Given the description of an element on the screen output the (x, y) to click on. 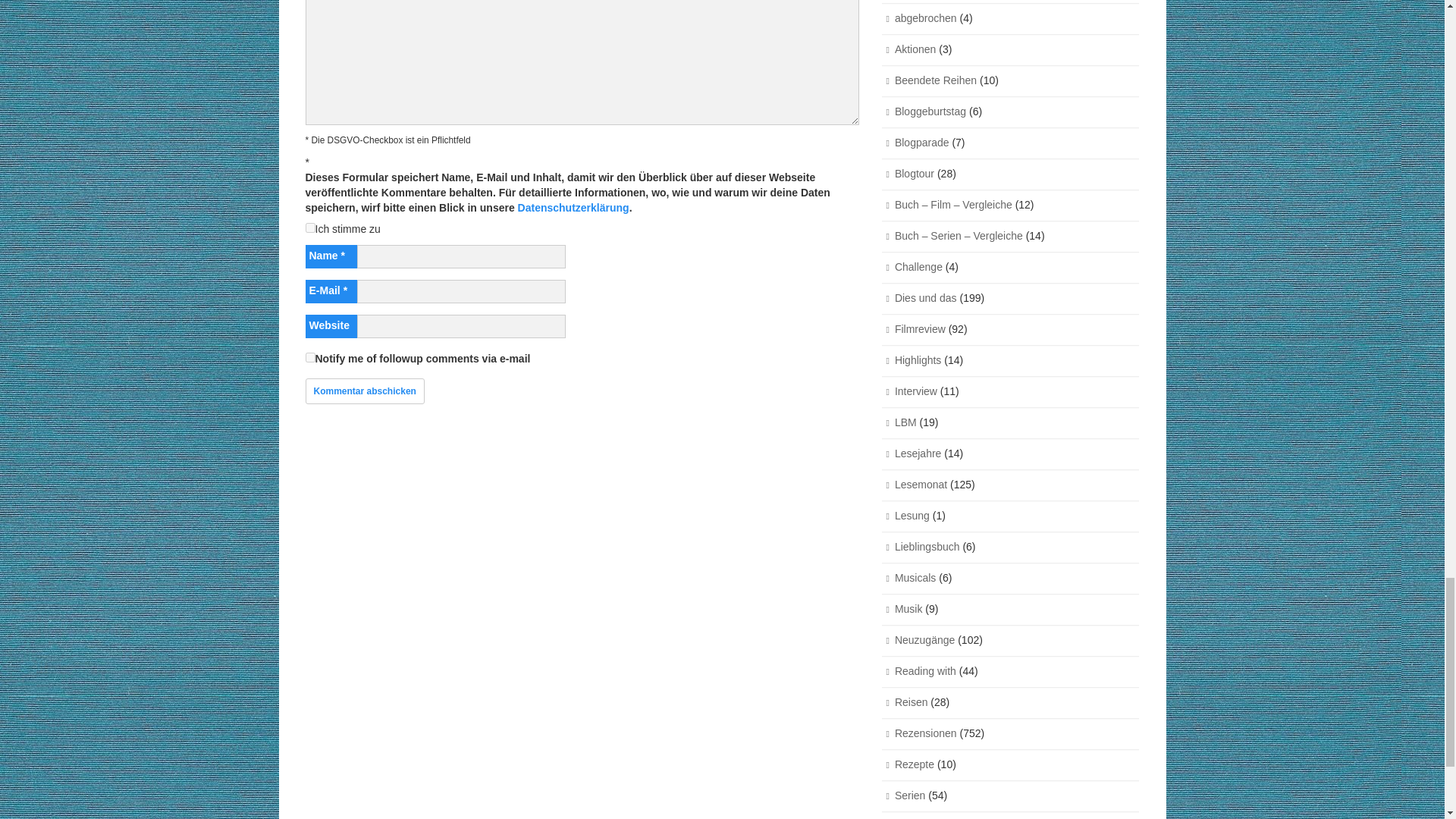
on (309, 227)
Kommentar abschicken (363, 391)
subscribe (309, 357)
